Given the description of an element on the screen output the (x, y) to click on. 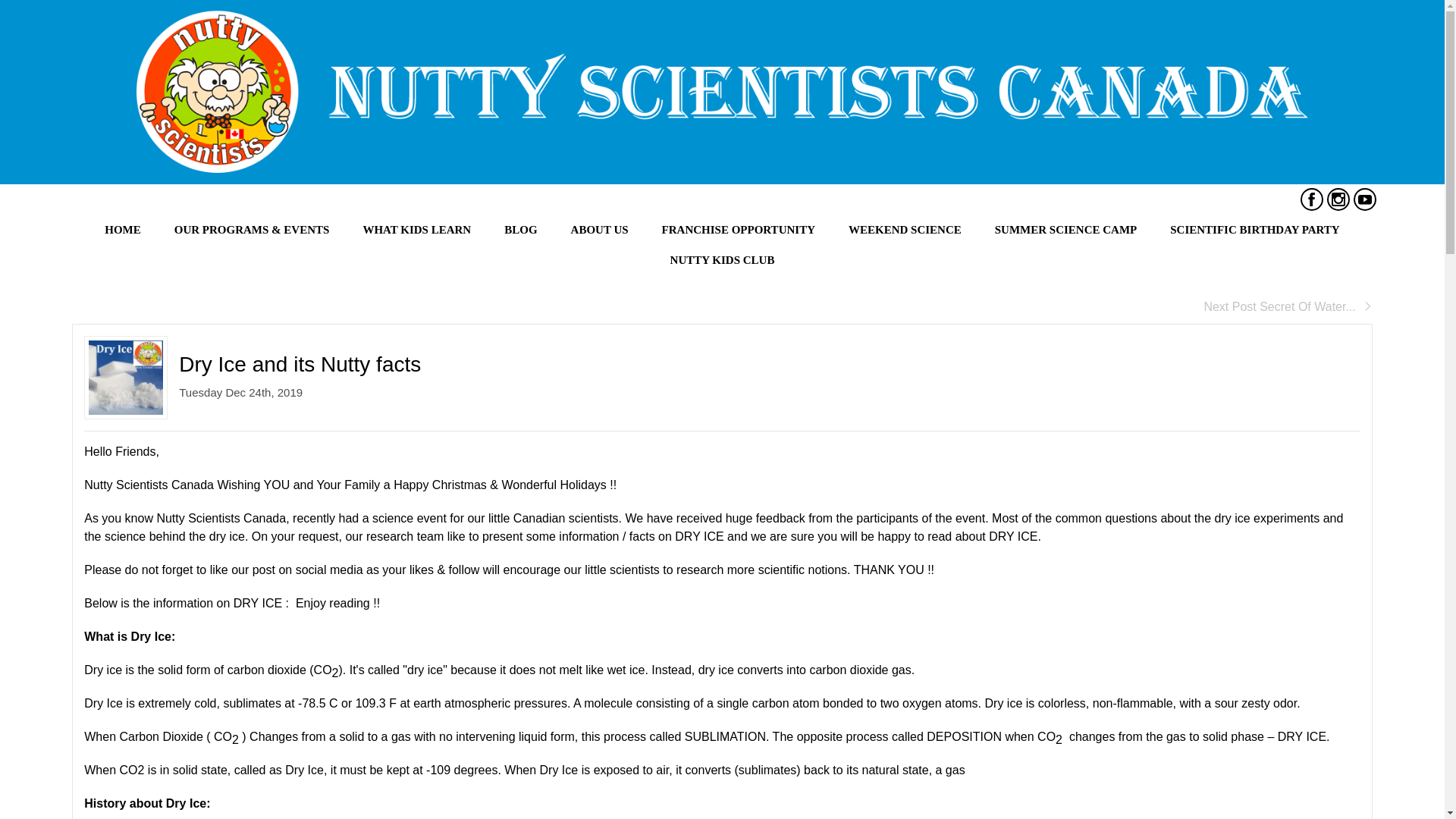
SUMMER SCIENCE CAMP (1066, 229)
ABOUT US (599, 229)
Next Post Secret Of Water... (1287, 306)
What Kids Learn  (416, 229)
Instagram (1337, 199)
HOME (122, 229)
NUTTY KIDS CLUB (722, 259)
FRANCHISE OPPORTUNITY (738, 229)
Facebook (1311, 199)
SCIENTIFIC BIRTHDAY PARTY (1254, 229)
Youtube (1364, 199)
WHAT KIDS LEARN (416, 229)
WEEKEND SCIENCE (904, 229)
BLOG (520, 229)
